Given the description of an element on the screen output the (x, y) to click on. 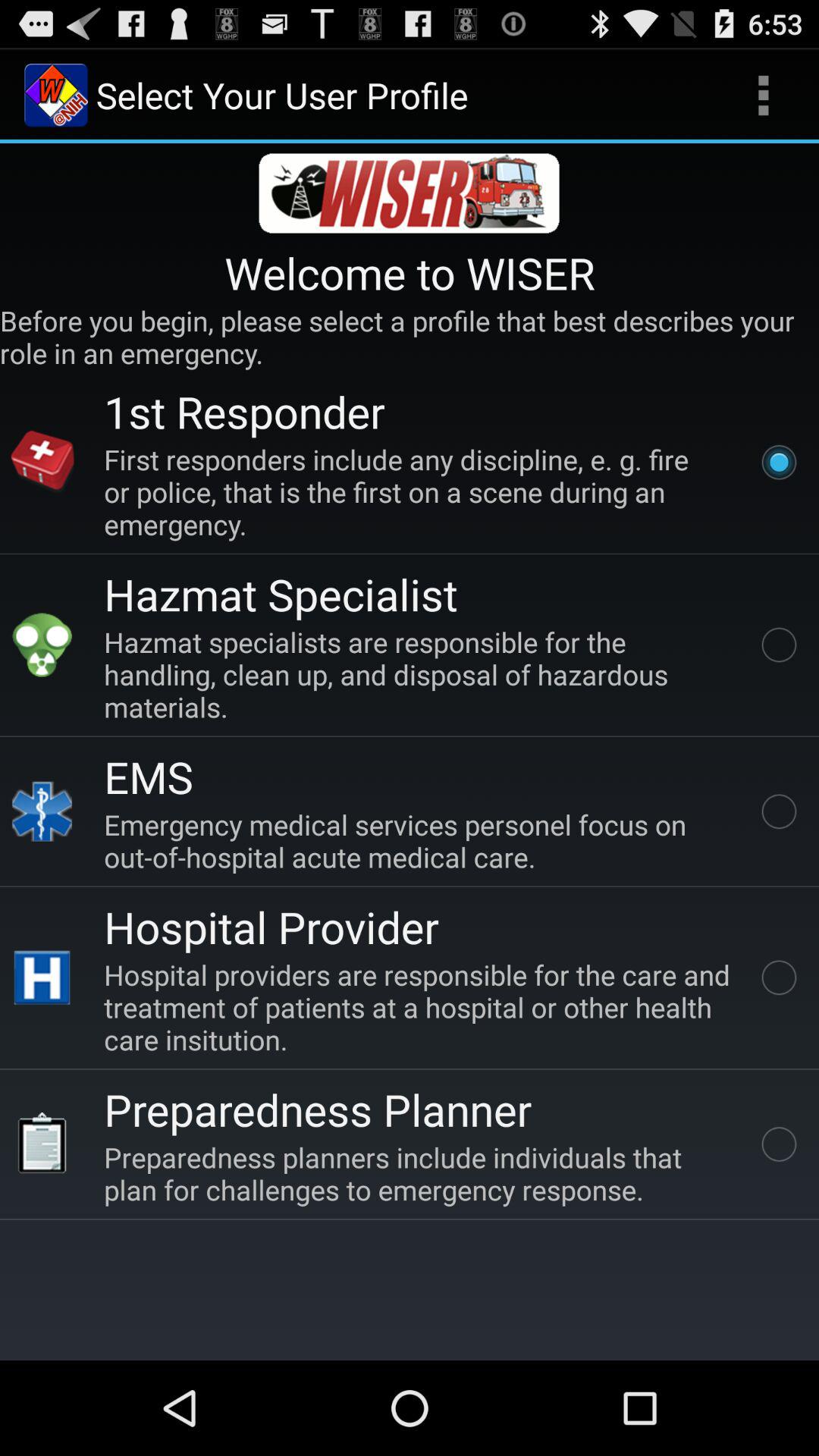
select item below hospital providers are (317, 1109)
